Given the description of an element on the screen output the (x, y) to click on. 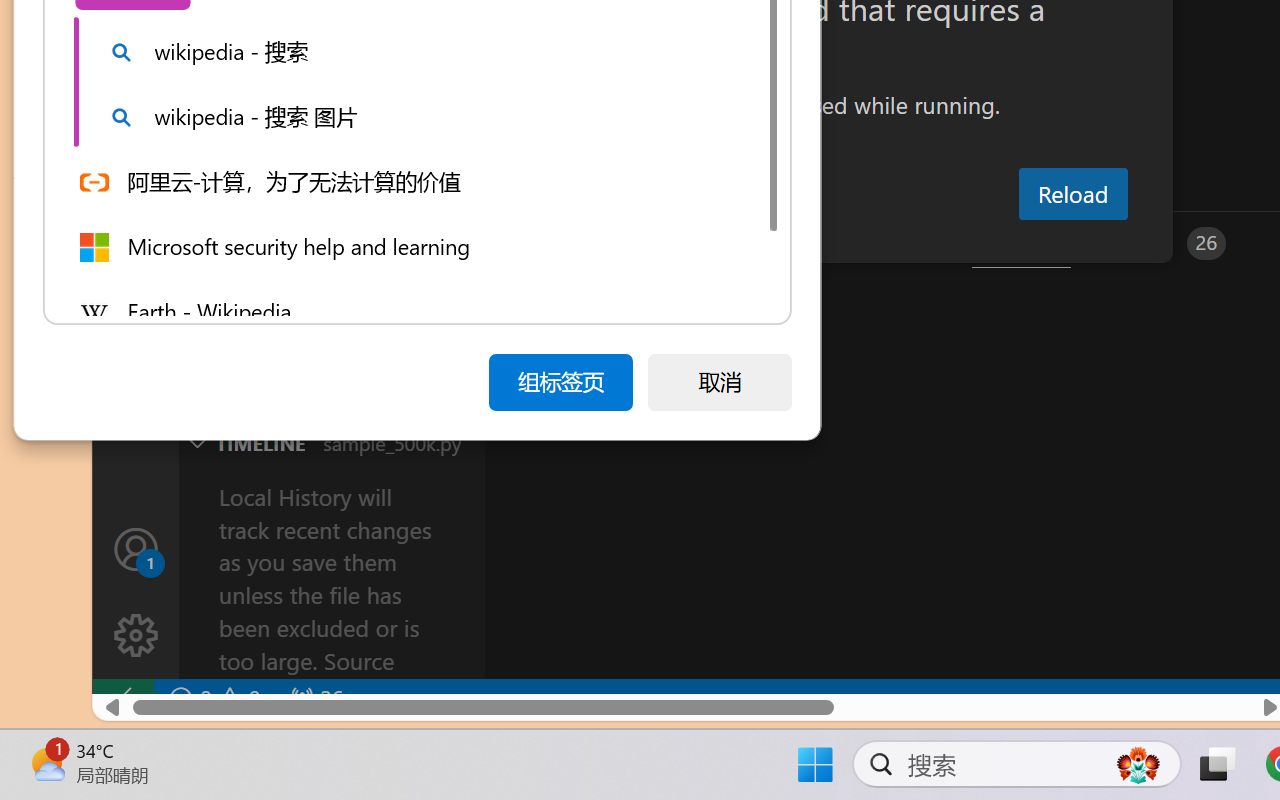
Ports - 26 forwarded ports (1165, 243)
No Problems (212, 698)
Terminal (Ctrl+`) (1021, 243)
